Given the description of an element on the screen output the (x, y) to click on. 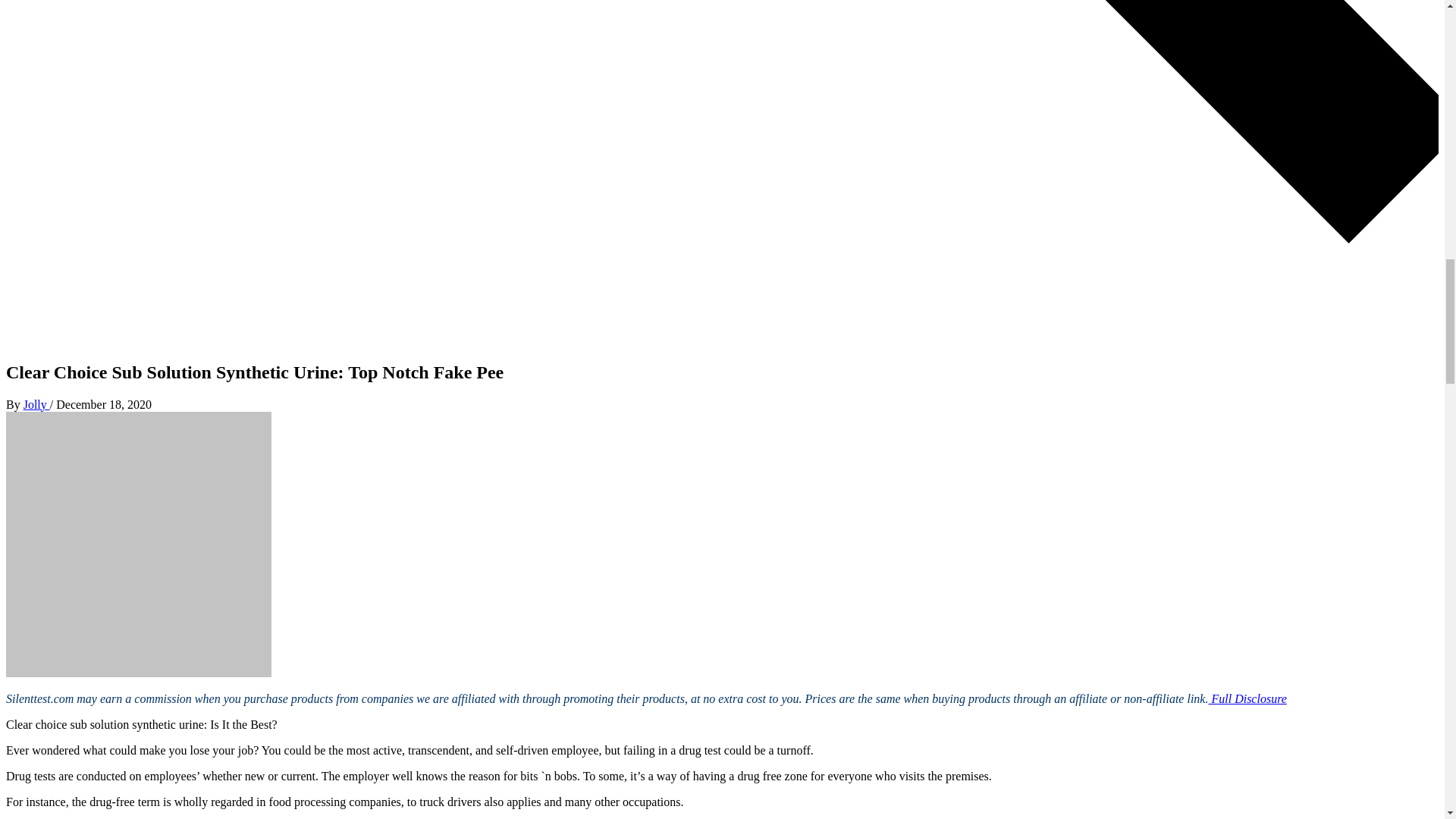
View all posts by Jolly (36, 403)
